Given the description of an element on the screen output the (x, y) to click on. 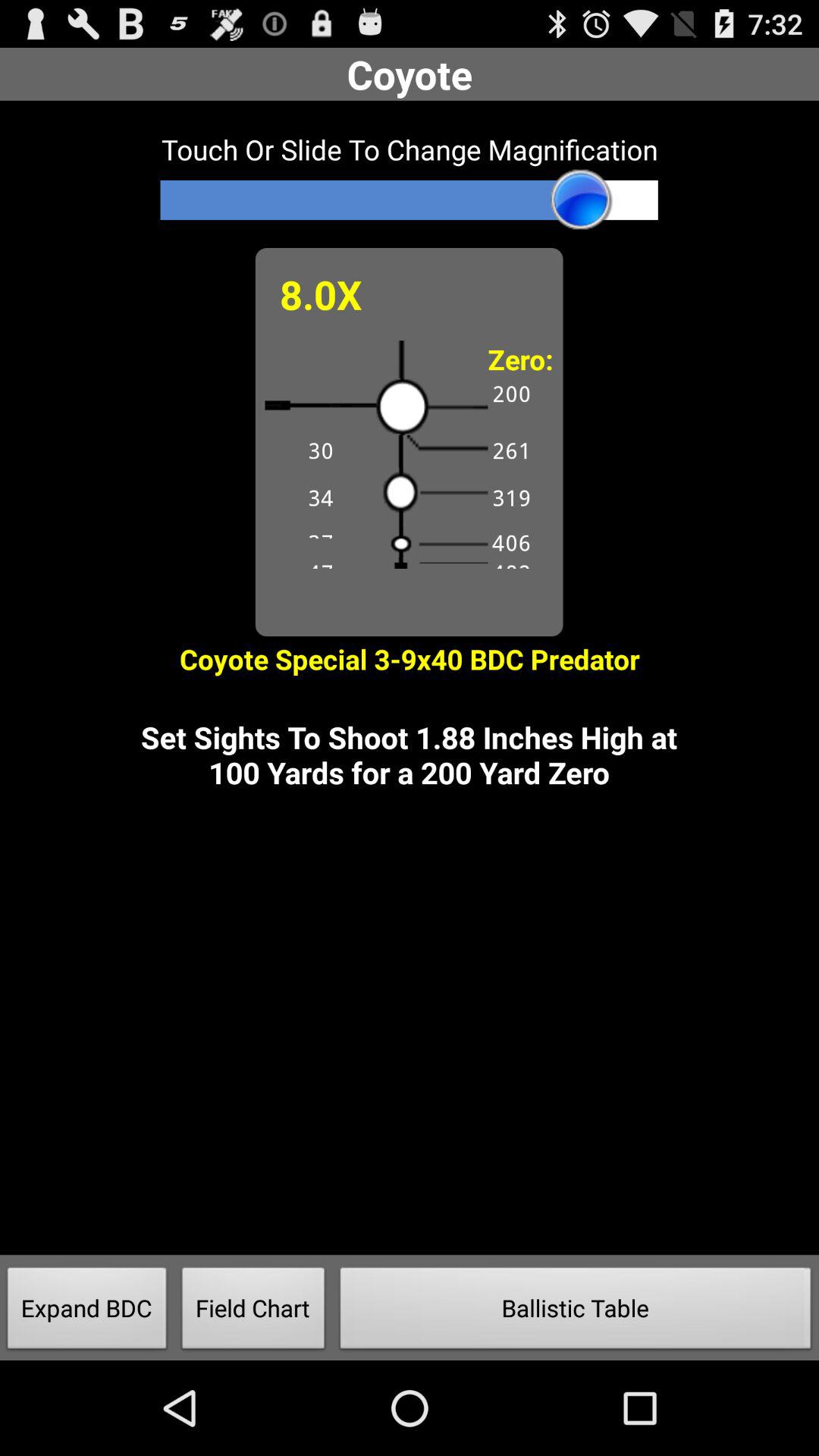
tap the item next to the field chart icon (575, 1312)
